Given the description of an element on the screen output the (x, y) to click on. 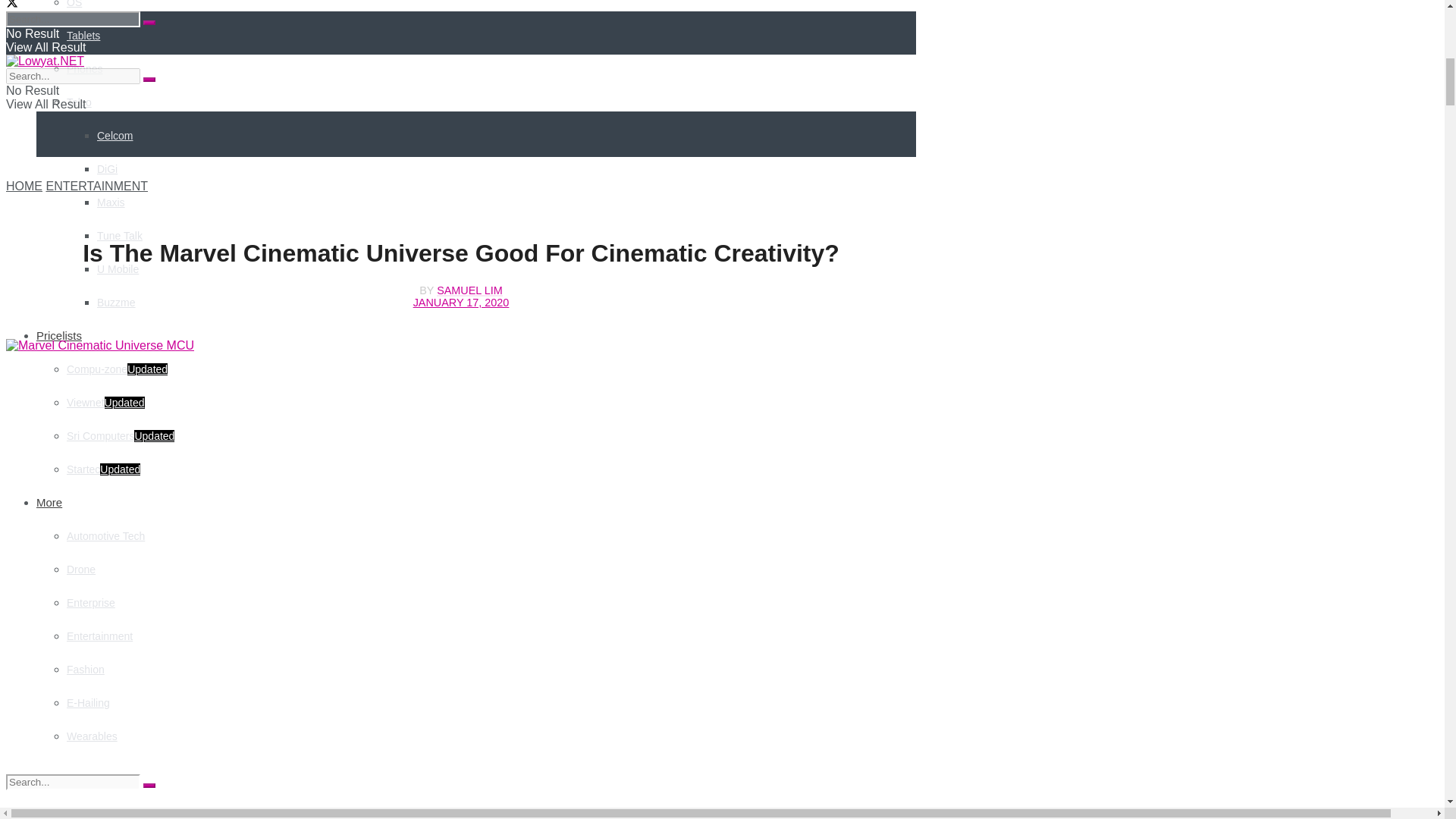
DiGi (107, 168)
Phones (83, 69)
Celcom (114, 135)
Tablets (83, 35)
OS (73, 4)
Telco (78, 102)
Tune Talk (119, 235)
Maxis (111, 202)
